Given the description of an element on the screen output the (x, y) to click on. 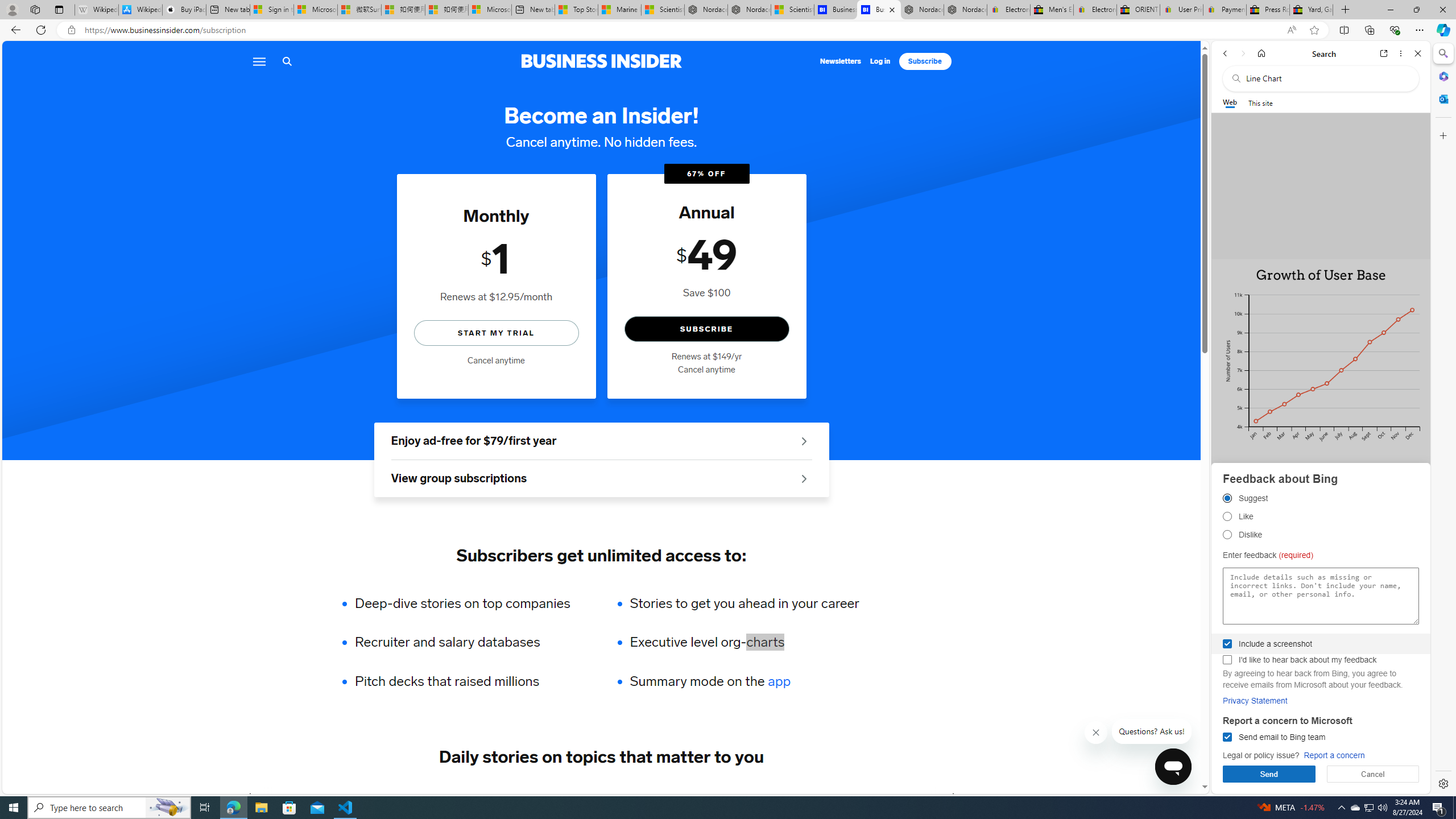
Class: sc-1uf0igr-1 fjHZYk (1096, 732)
Subscribe (925, 61)
